Given the description of an element on the screen output the (x, y) to click on. 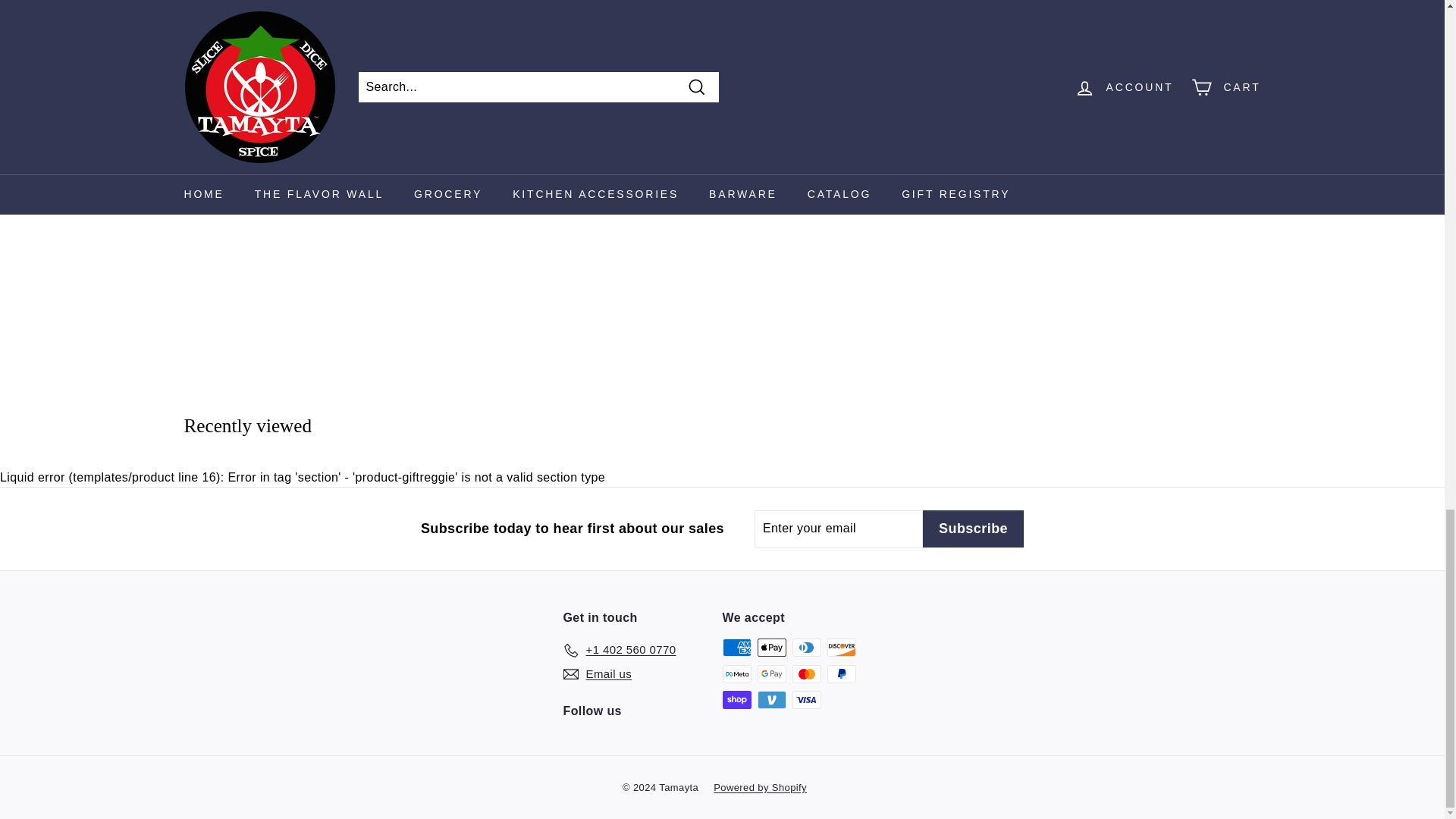
Google Pay (771, 674)
Apple Pay (771, 647)
Meta Pay (736, 674)
FOX RUN BRANDS (355, 47)
Discover (841, 647)
Diners Club (806, 647)
American Express (736, 647)
Mastercard (806, 674)
